Given the description of an element on the screen output the (x, y) to click on. 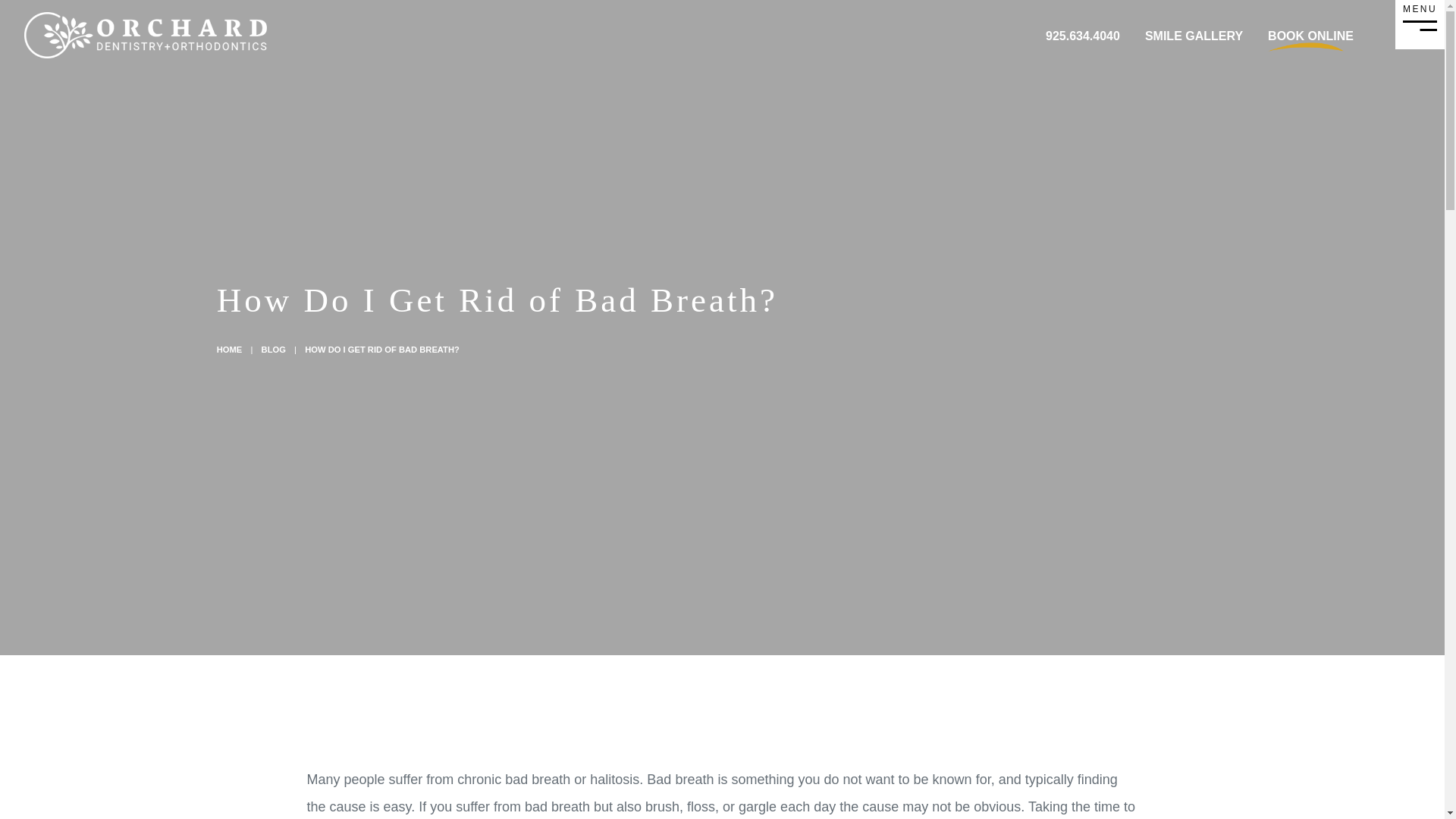
925.634.4040 (1082, 35)
BOOK ONLINE (1311, 35)
SMILE GALLERY (1193, 35)
